Given the description of an element on the screen output the (x, y) to click on. 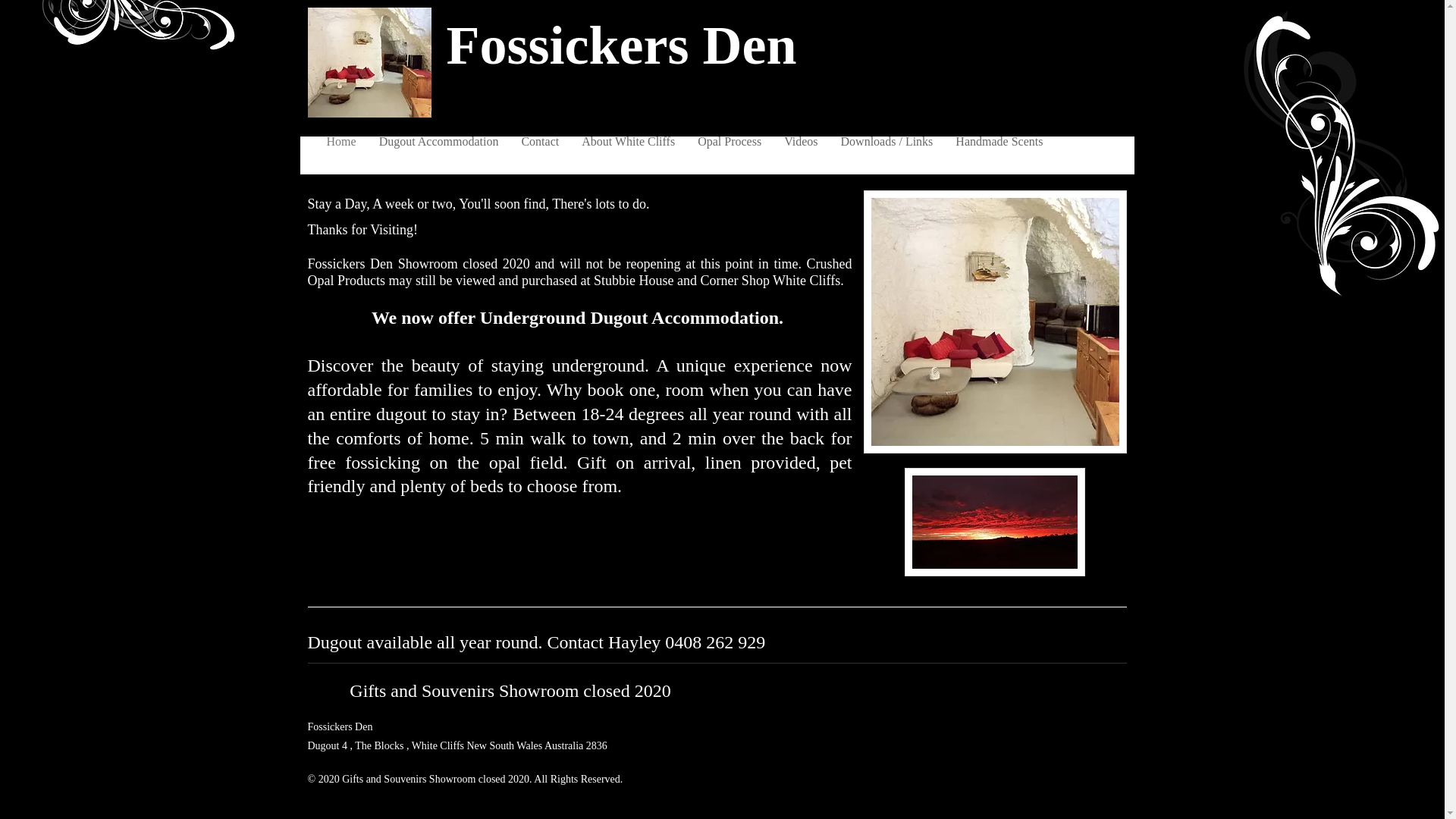
Dugout Accommodation Element type: text (438, 141)
Videos Element type: text (800, 141)
About White Cliffs Element type: text (628, 141)
Handmade Scents Element type: text (999, 141)
Downloads / Links Element type: text (886, 141)
Contact Element type: text (539, 141)
Opal Process Element type: text (729, 141)
Home Element type: text (341, 141)
